Given the description of an element on the screen output the (x, y) to click on. 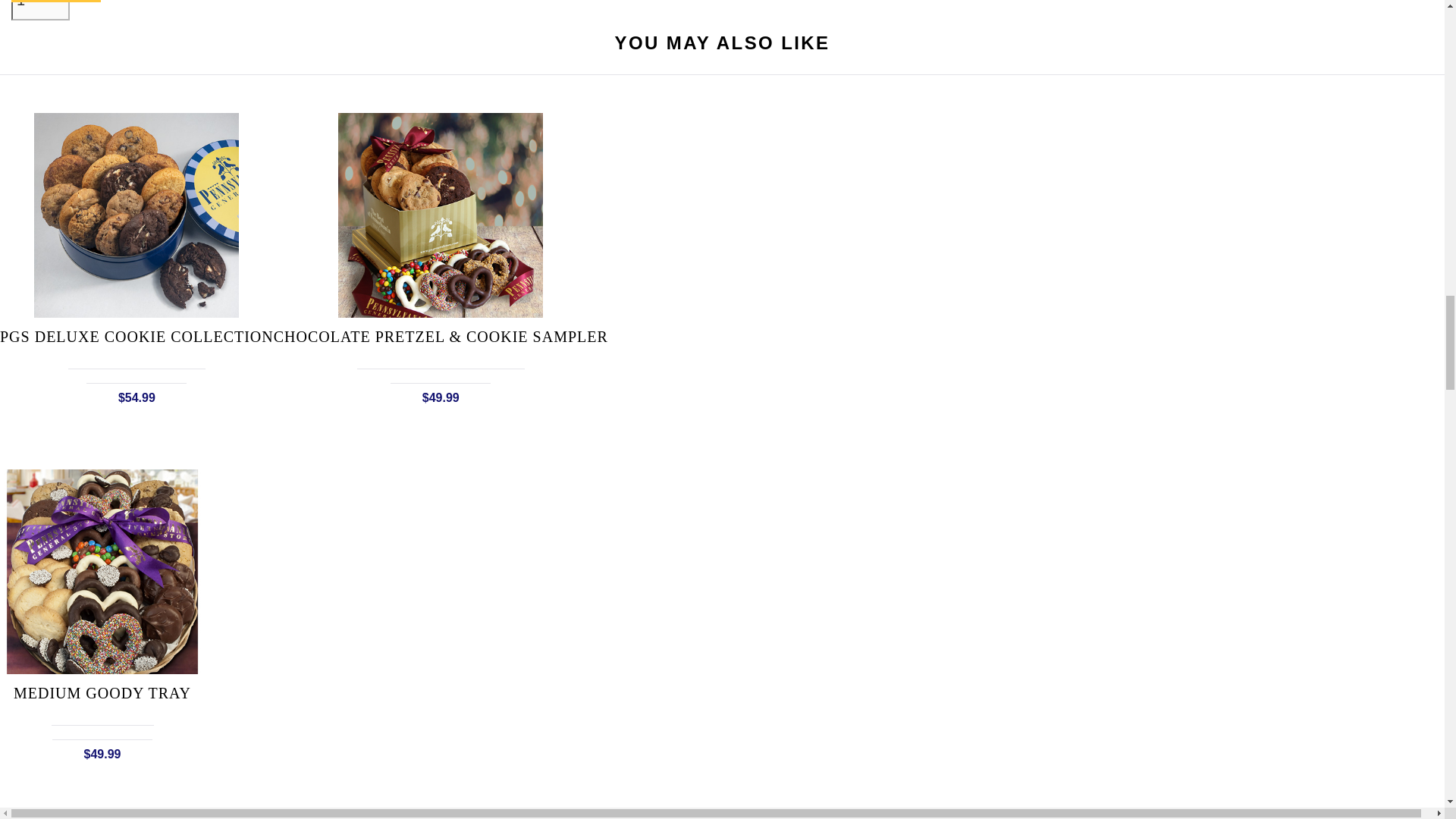
Add to Cart (55, 1)
1 (40, 10)
